Given the description of an element on the screen output the (x, y) to click on. 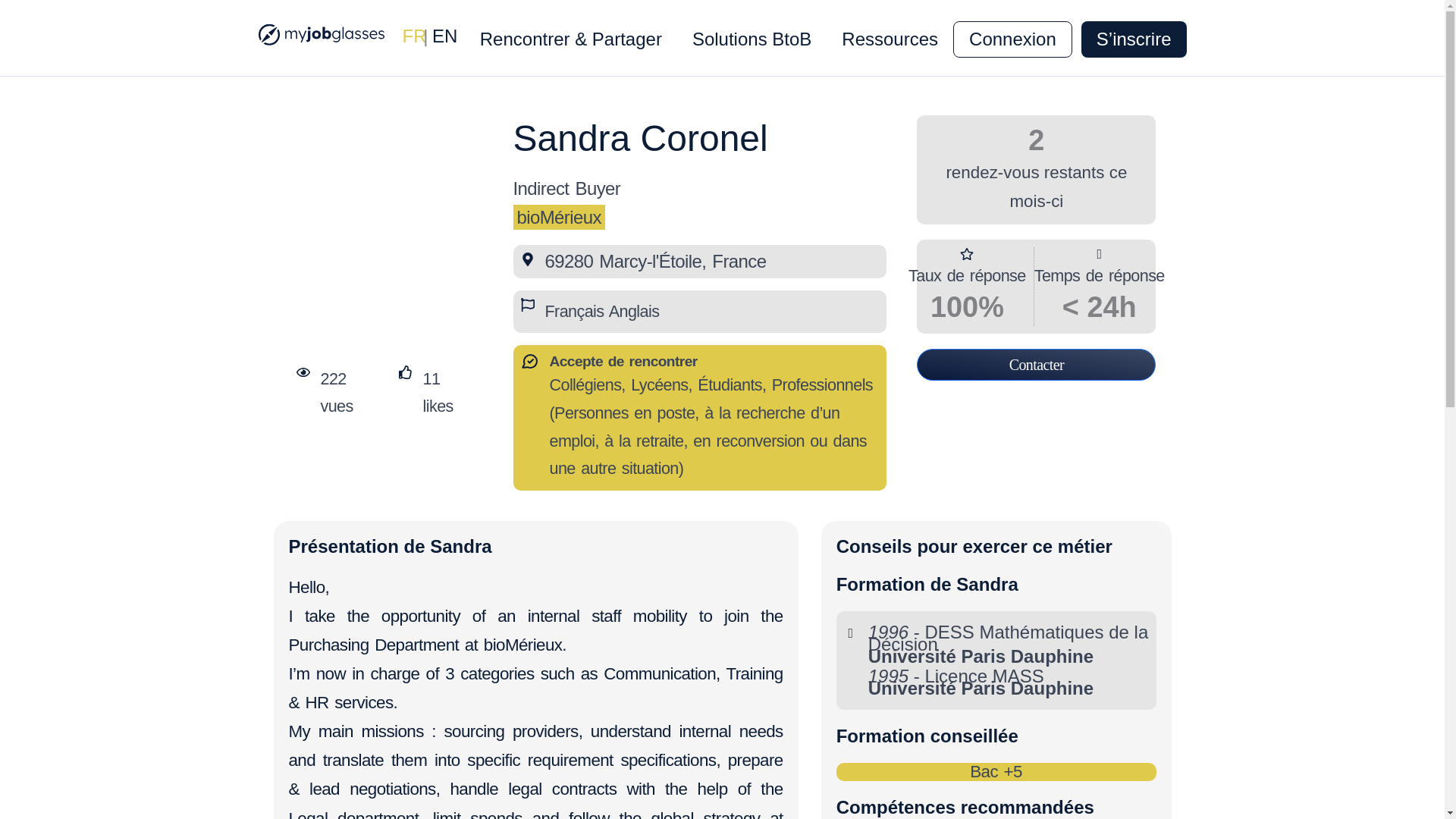
Login (1046, 39)
FR (413, 35)
EN (444, 35)
Resources (950, 39)
Ressources (890, 39)
BtoB Solutions (816, 39)
Sign up (1140, 39)
Solutions BtoB (752, 39)
